Given the description of an element on the screen output the (x, y) to click on. 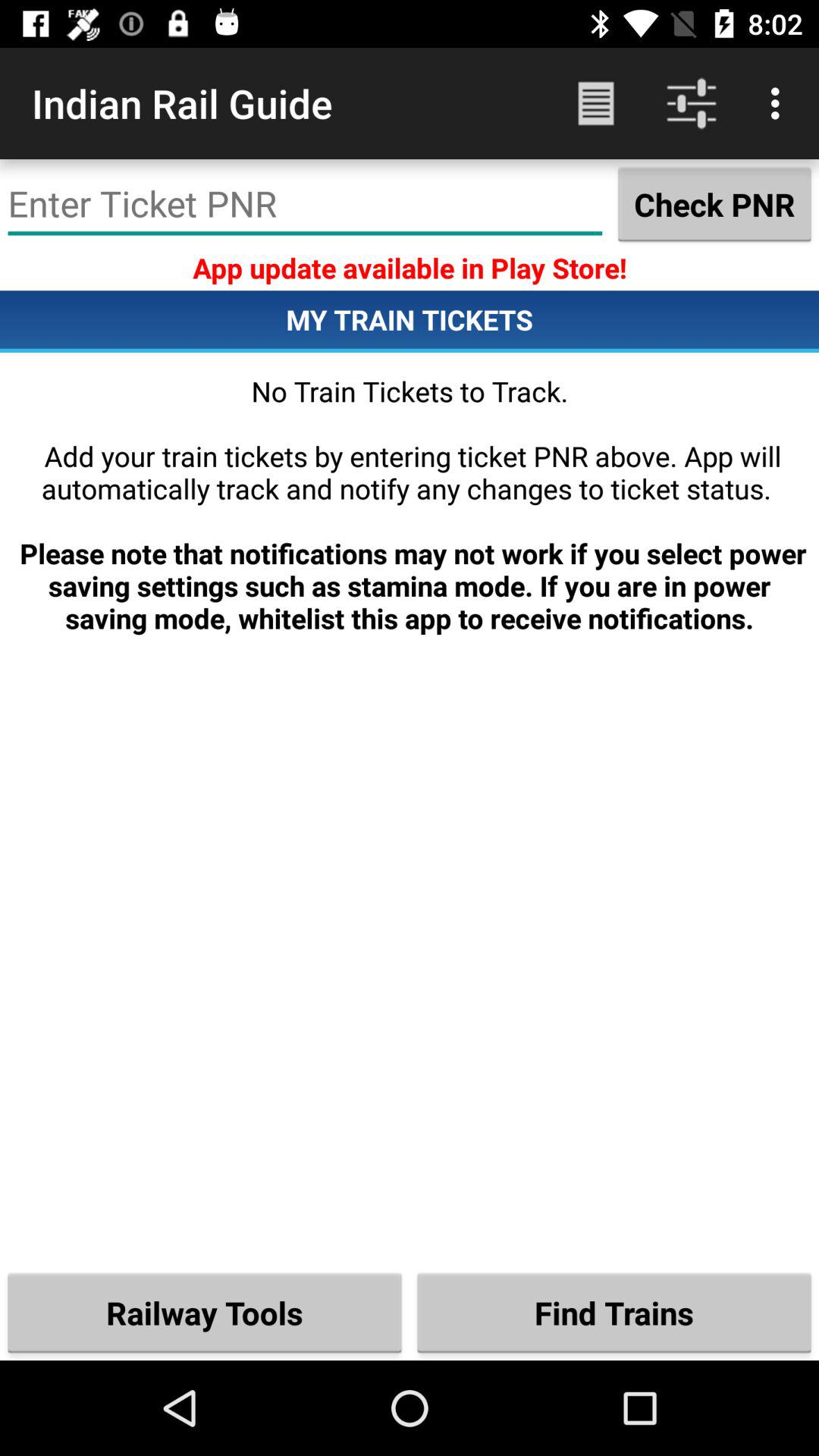
turn off item next to railway tools (614, 1312)
